Given the description of an element on the screen output the (x, y) to click on. 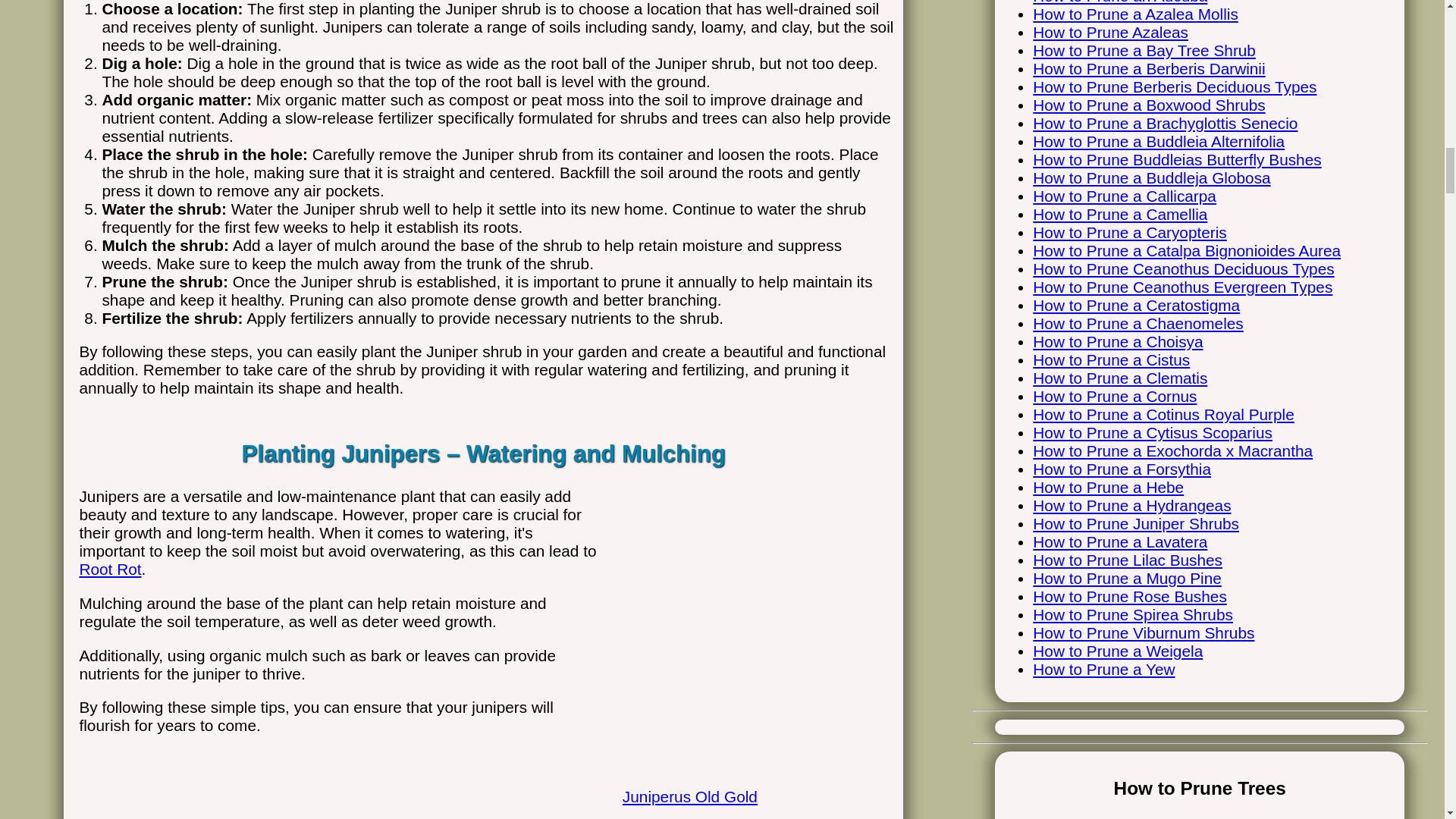
Root Rot (109, 569)
Juniperus Old Gold (747, 779)
